Given the description of an element on the screen output the (x, y) to click on. 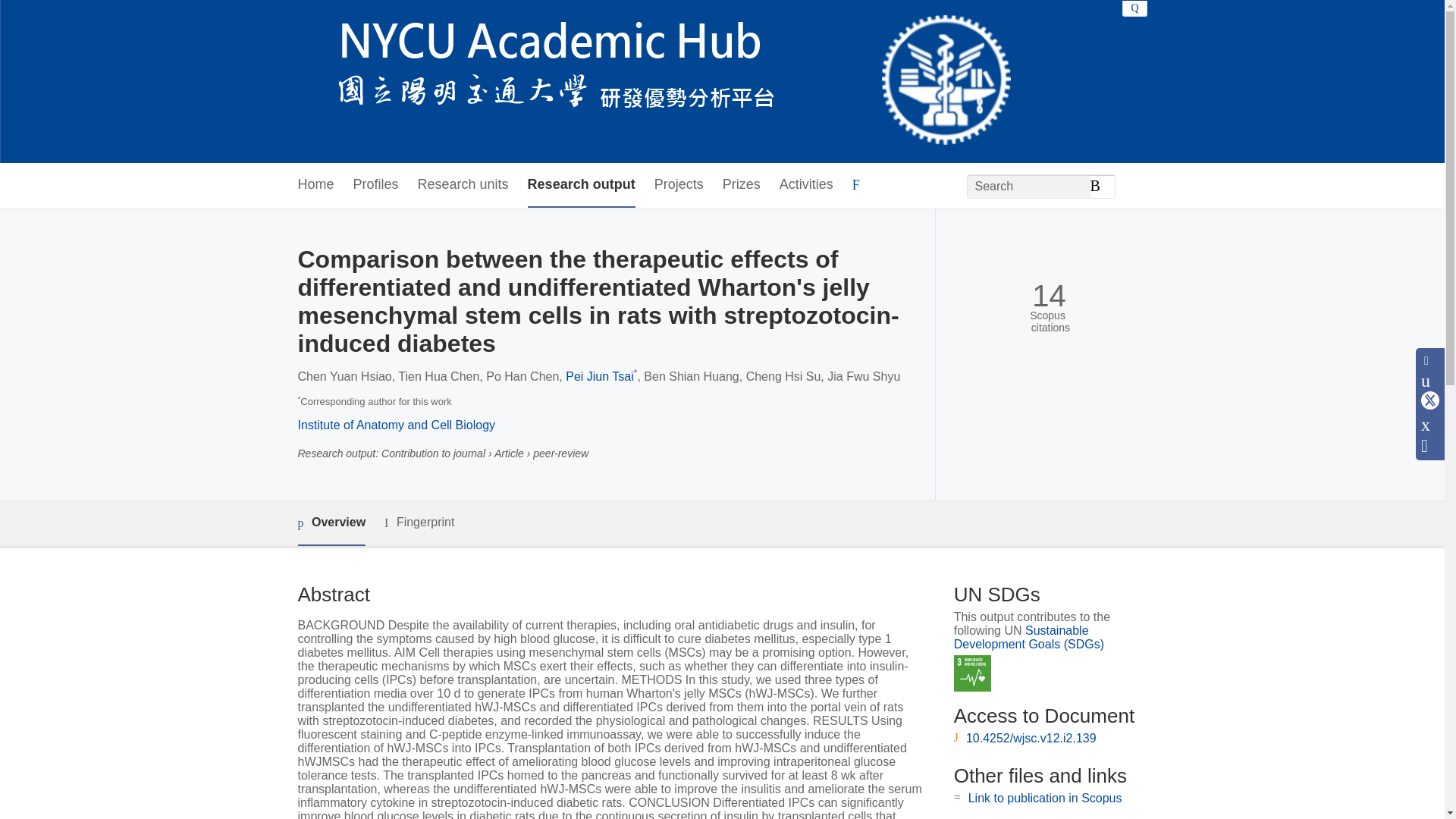
Research units (462, 185)
Pei Jiun Tsai (599, 376)
Projects (678, 185)
SDG 3 - Good Health and Well-being (972, 673)
Link to publication in Scopus (1045, 797)
Fingerprint (419, 522)
Institute of Anatomy and Cell Biology (396, 424)
Research output (580, 185)
Activities (805, 185)
National Yang Ming Chiao Tung University Academic Hub Home (653, 81)
Profiles (375, 185)
Overview (331, 523)
